Given the description of an element on the screen output the (x, y) to click on. 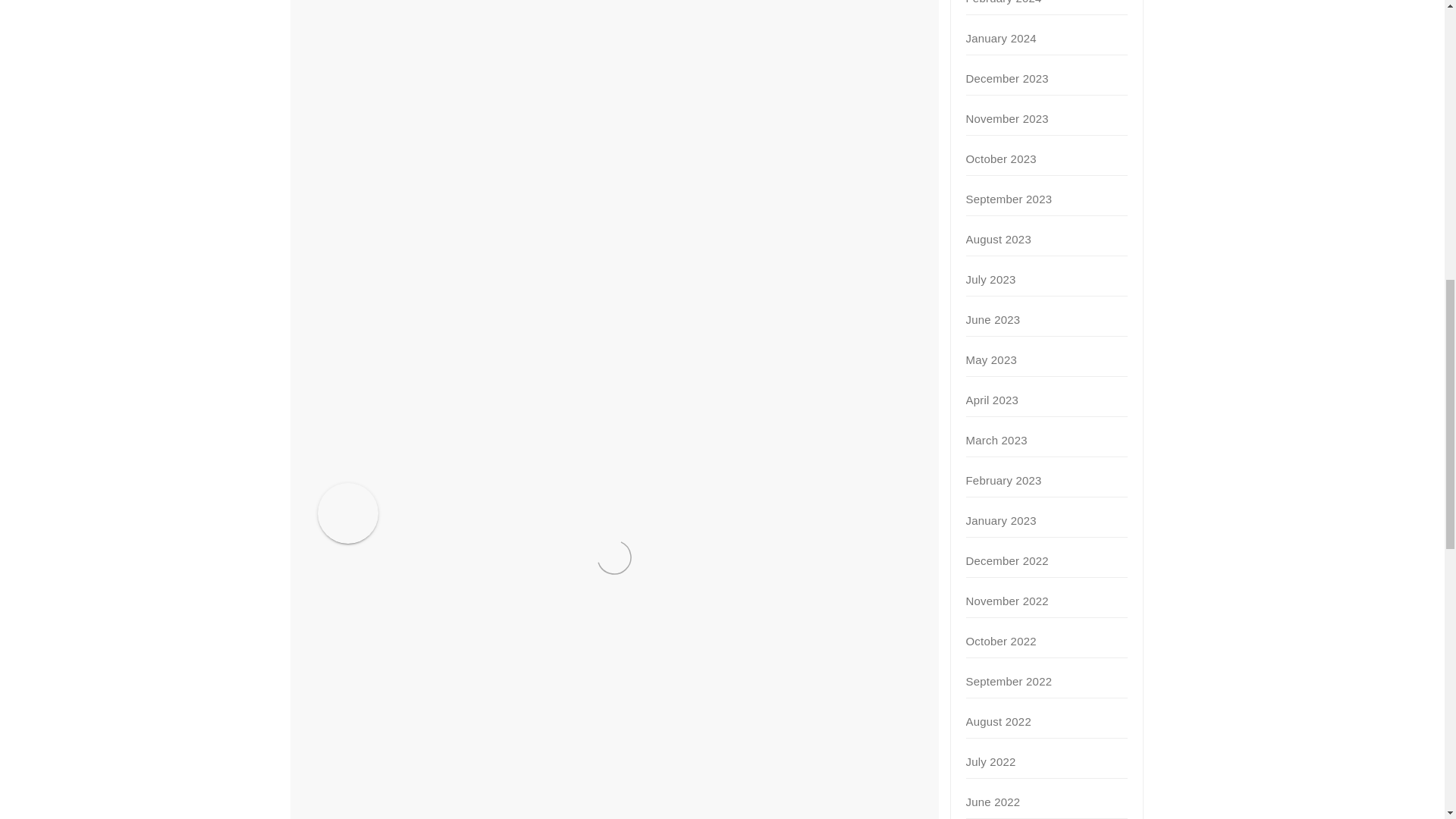
August 2022 (998, 721)
June 2023 (993, 318)
August 2023 (998, 238)
Admin (464, 494)
July 2023 (991, 278)
November 2023 (1007, 118)
July 2022 (991, 761)
February 2023 (1004, 480)
November 2022 (1007, 600)
April 2023 (992, 399)
September 2023 (1009, 198)
December 2023 (1007, 78)
March 2023 (996, 440)
January 2023 (1001, 520)
September 2022 (1009, 680)
